Given the description of an element on the screen output the (x, y) to click on. 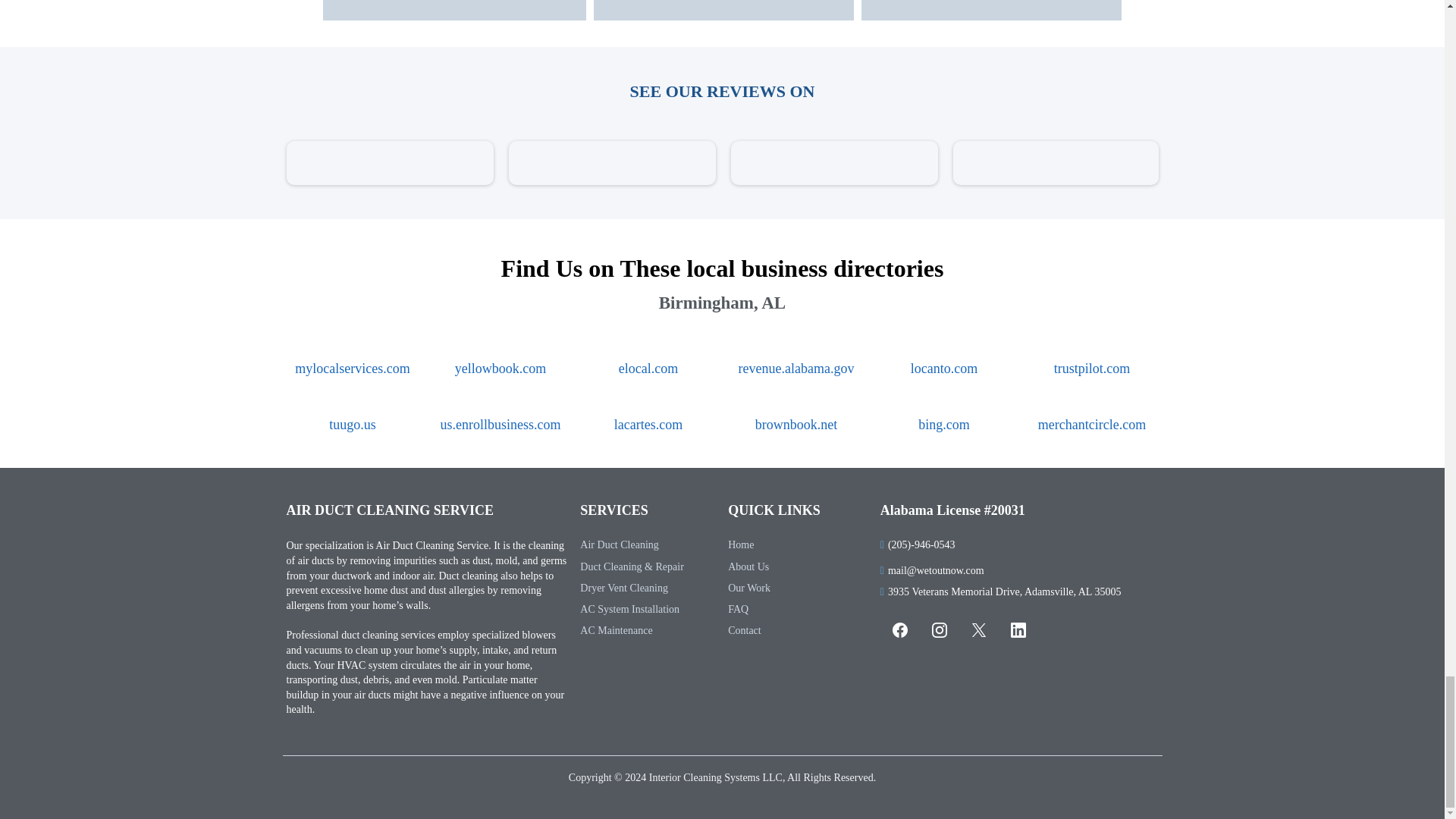
Home (741, 544)
Our Work (749, 587)
tuugo.us (352, 424)
FAQ (738, 609)
merchantcircle.com (1091, 424)
yellowbook.com (500, 368)
us.enrollbusiness.com (499, 424)
trustpilot.com (1092, 368)
revenue.alabama.gov (796, 368)
mylocalservices.com (352, 368)
